Given the description of an element on the screen output the (x, y) to click on. 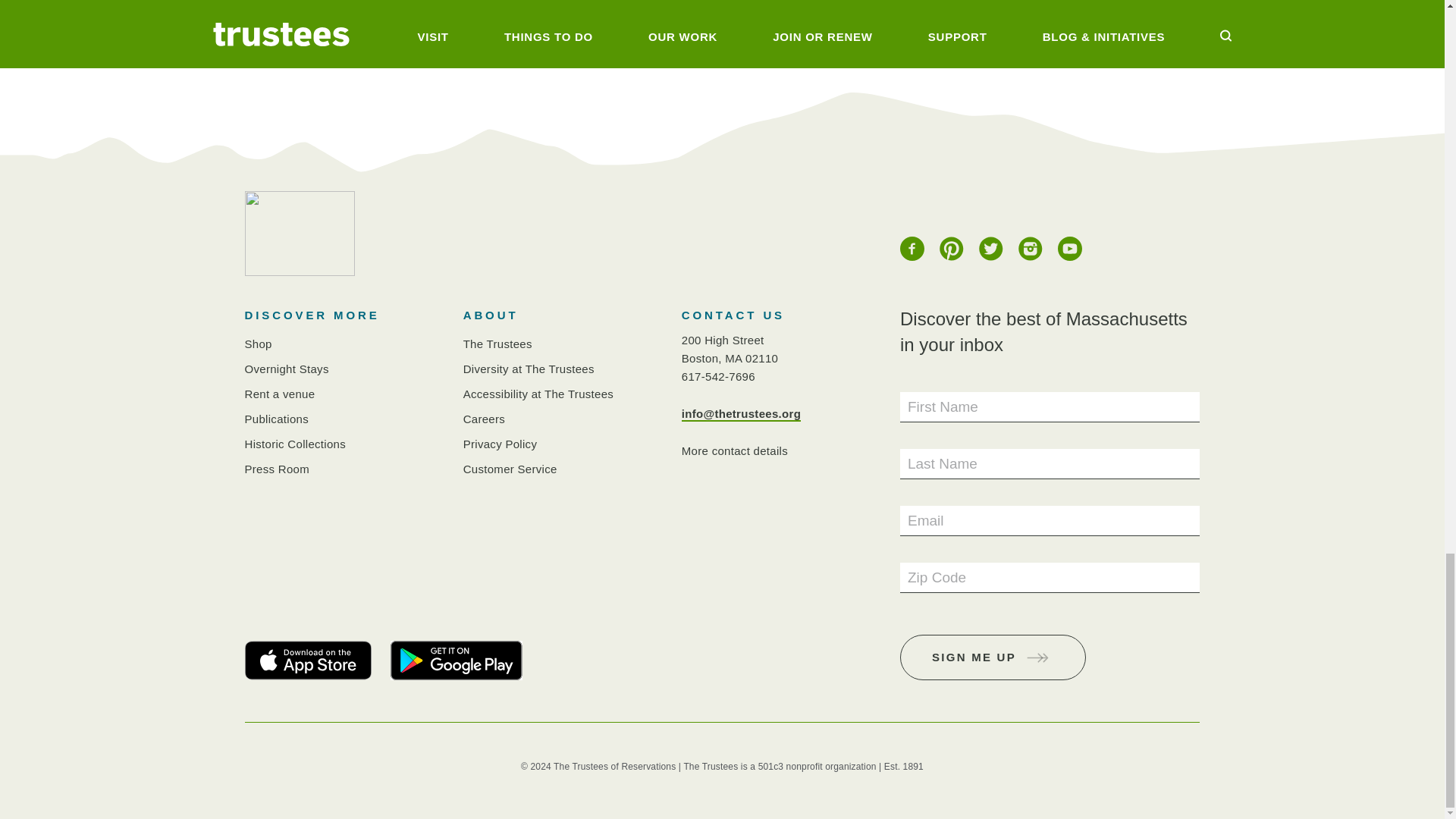
Shop (257, 343)
SIGN ME UP (992, 657)
Publications (275, 418)
The Trustees (497, 343)
Overnight Stays (286, 368)
Press Room (276, 468)
Rent a venue (279, 393)
Historic Collections (295, 443)
